Given the description of an element on the screen output the (x, y) to click on. 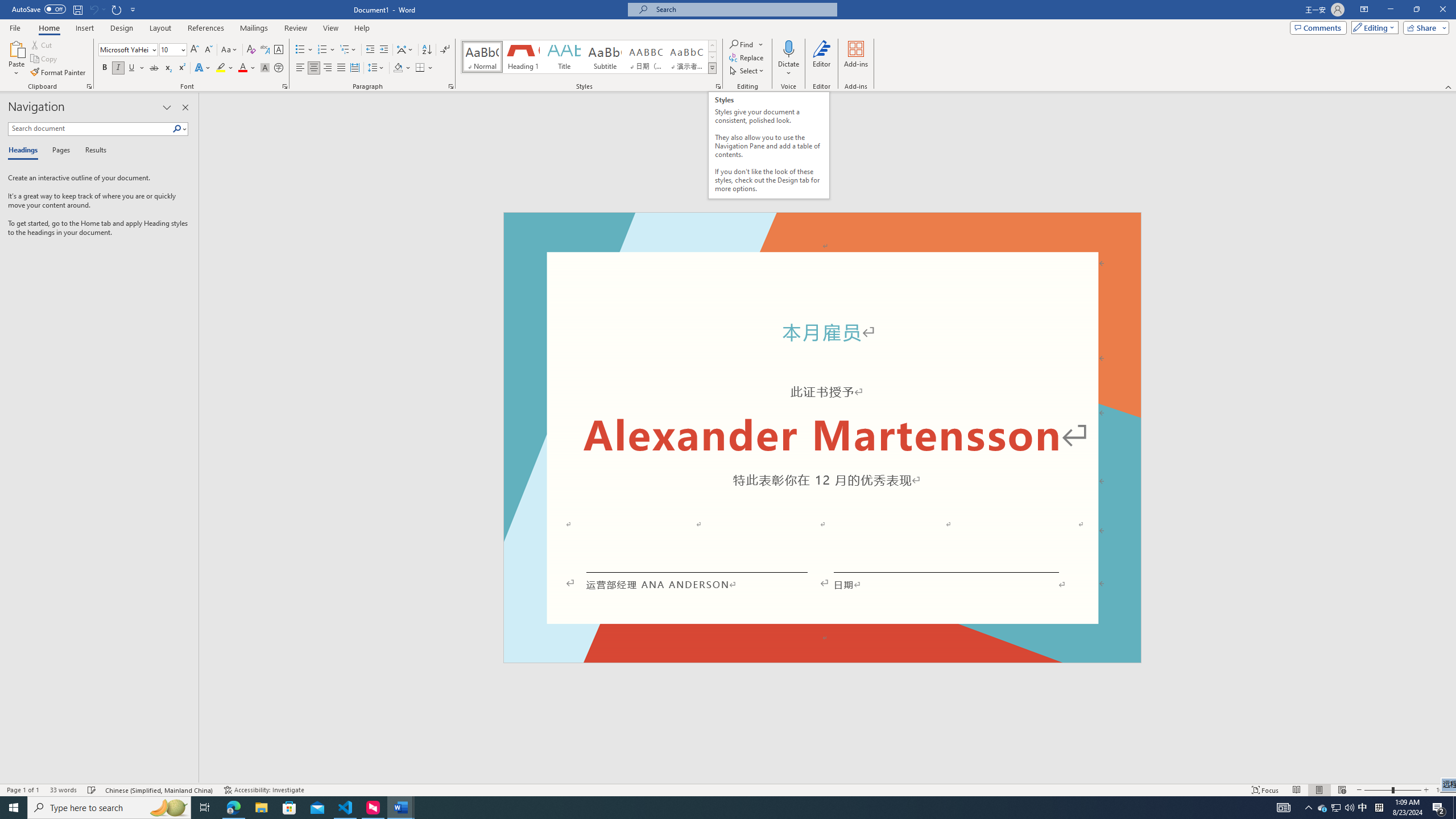
AutomationID: QuickStylesGallery (588, 56)
Character Border (278, 49)
Phonetic Guide... (264, 49)
Justify (340, 67)
Format Painter (58, 72)
